Given the description of an element on the screen output the (x, y) to click on. 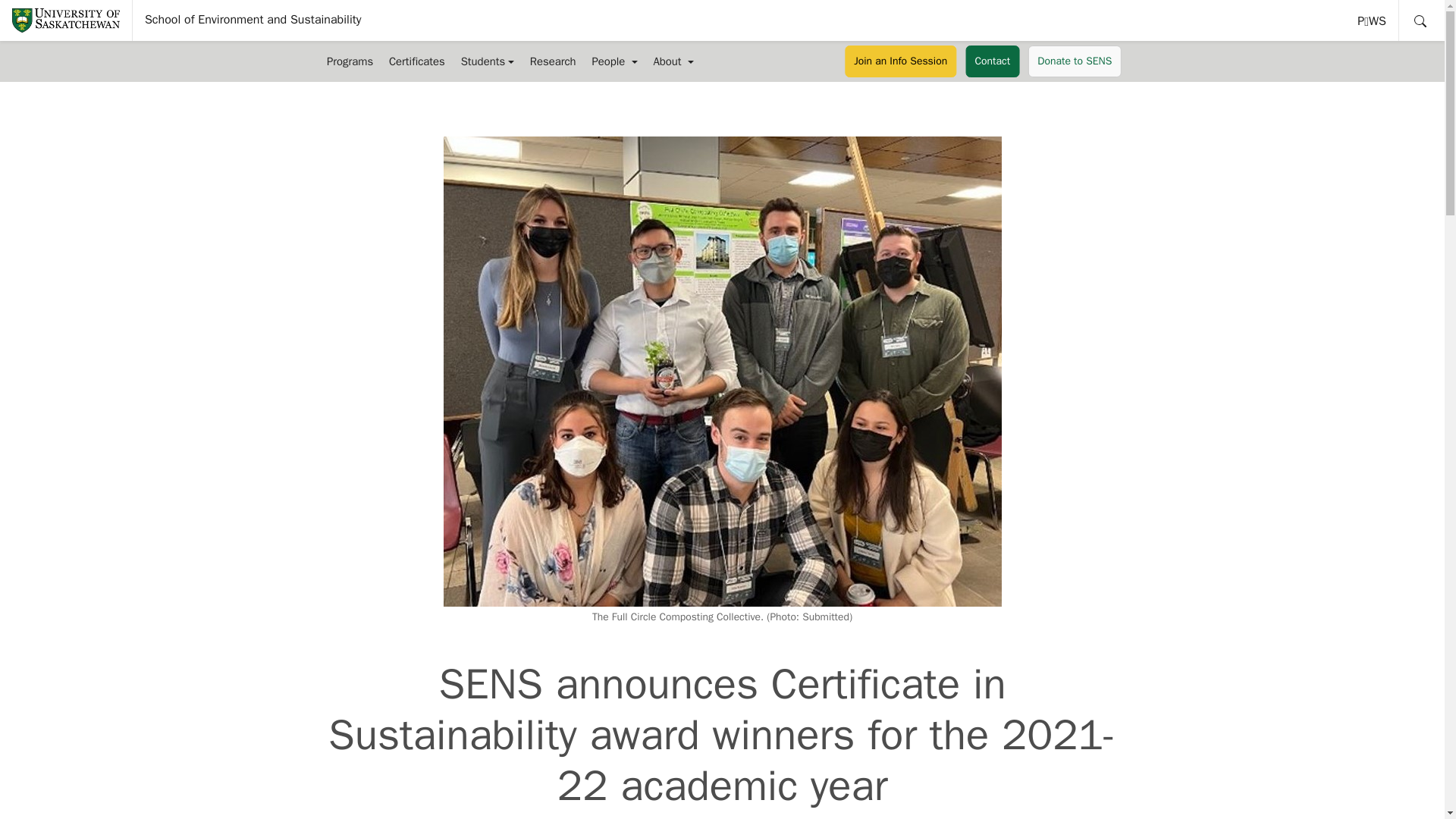
People (614, 60)
Donate to SENS (1074, 60)
Contact (992, 60)
Programs (349, 60)
Students (486, 60)
PAWS (1372, 20)
School of Environment and Sustainability (253, 20)
About (673, 60)
Certificates (416, 60)
Research (1372, 20)
Join an Info Session (552, 60)
